Given the description of an element on the screen output the (x, y) to click on. 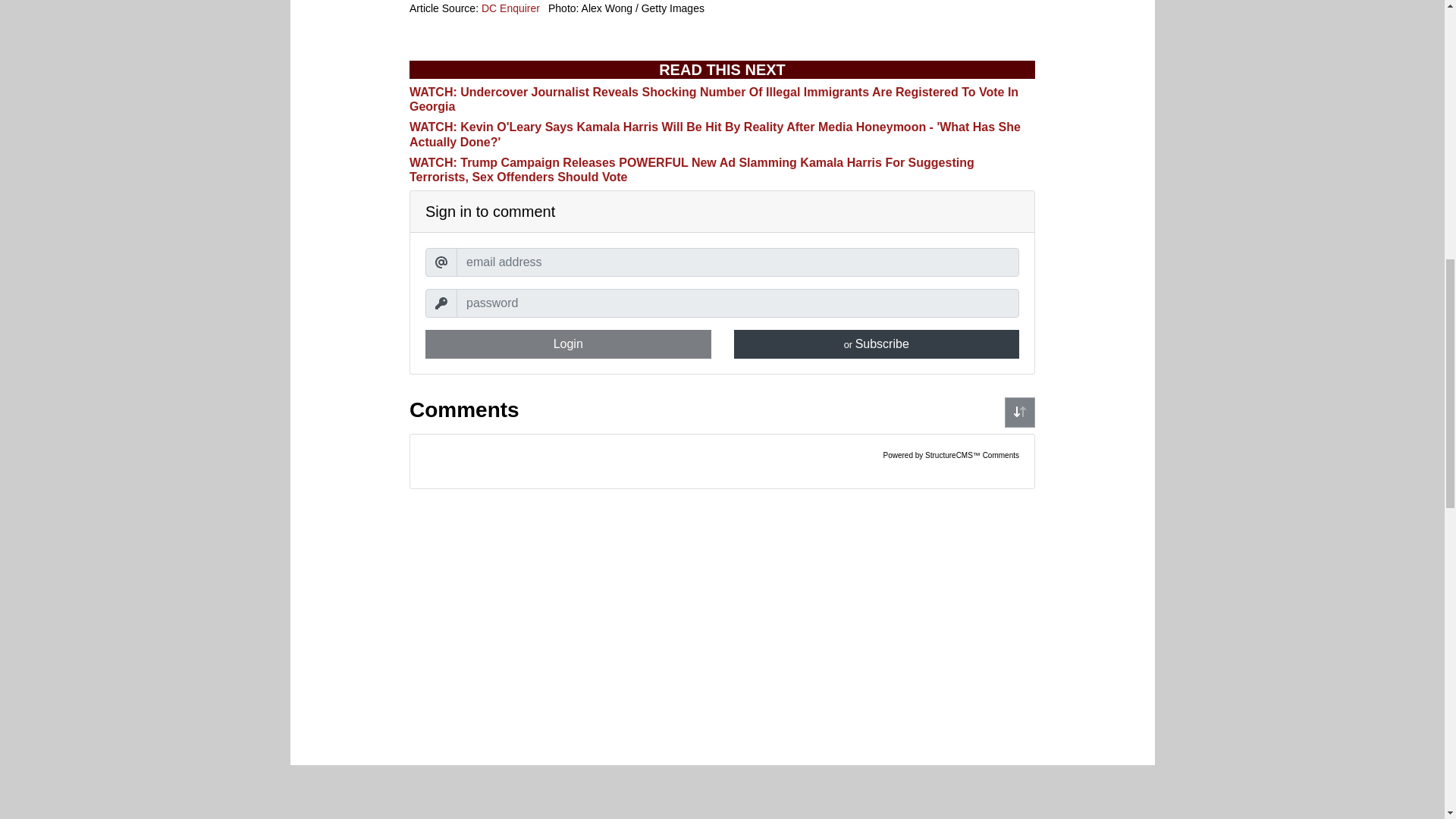
Toggle Order (1019, 412)
Advertisement (721, 796)
Login (568, 344)
or Subscribe (876, 344)
DC Enquirer (510, 8)
